Given the description of an element on the screen output the (x, y) to click on. 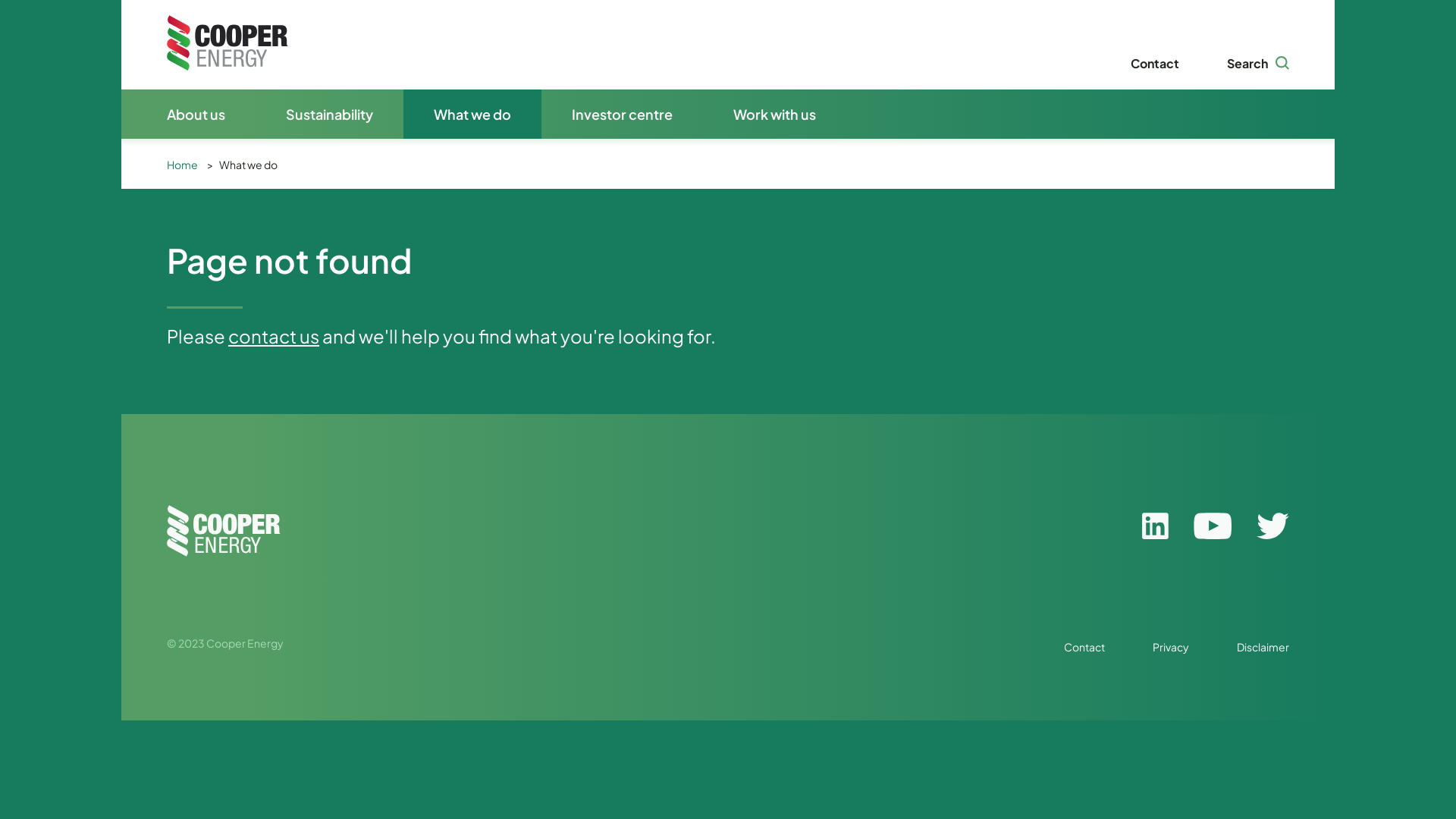
What we do Element type: text (472, 113)
Contact Element type: text (1154, 63)
Disclaimer Element type: text (1262, 646)
Privacy Element type: text (1170, 646)
Sustainability Element type: text (329, 113)
Contact Element type: text (1083, 646)
contact us Element type: text (273, 335)
Home Element type: text (186, 164)
Search Element type: text (1257, 63)
About us Element type: text (188, 113)
What we do Element type: text (252, 164)
Work with us Element type: text (774, 113)
Investor centre Element type: text (621, 113)
